Given the description of an element on the screen output the (x, y) to click on. 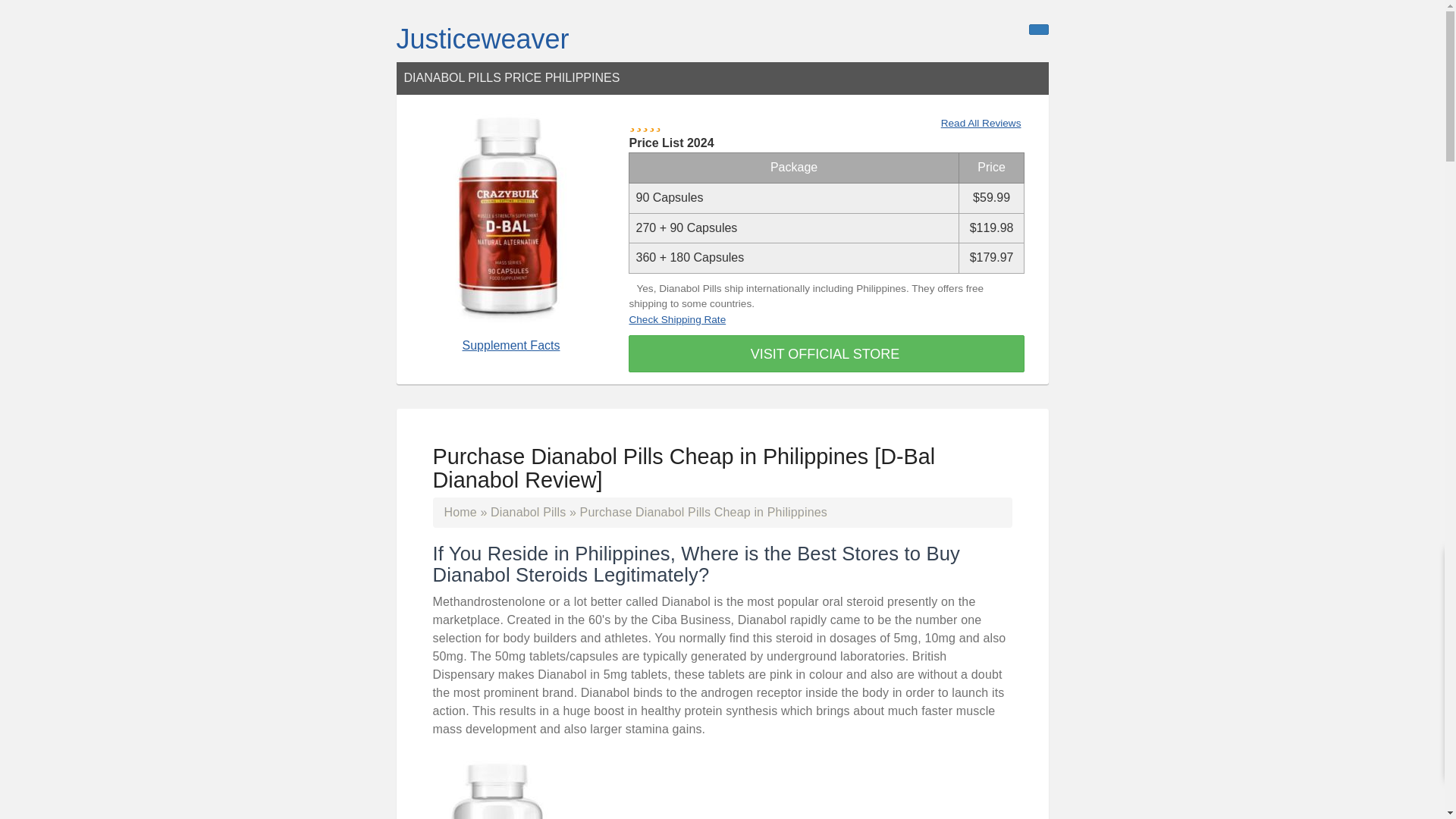
Dianabol Pills (528, 512)
Where Can You Buy Dianabol Steroids in Philippines (495, 786)
Buy Dianabol Pills Online  (528, 512)
Justiceweaver (482, 38)
Home (460, 512)
Justiceweaver (482, 38)
